Given the description of an element on the screen output the (x, y) to click on. 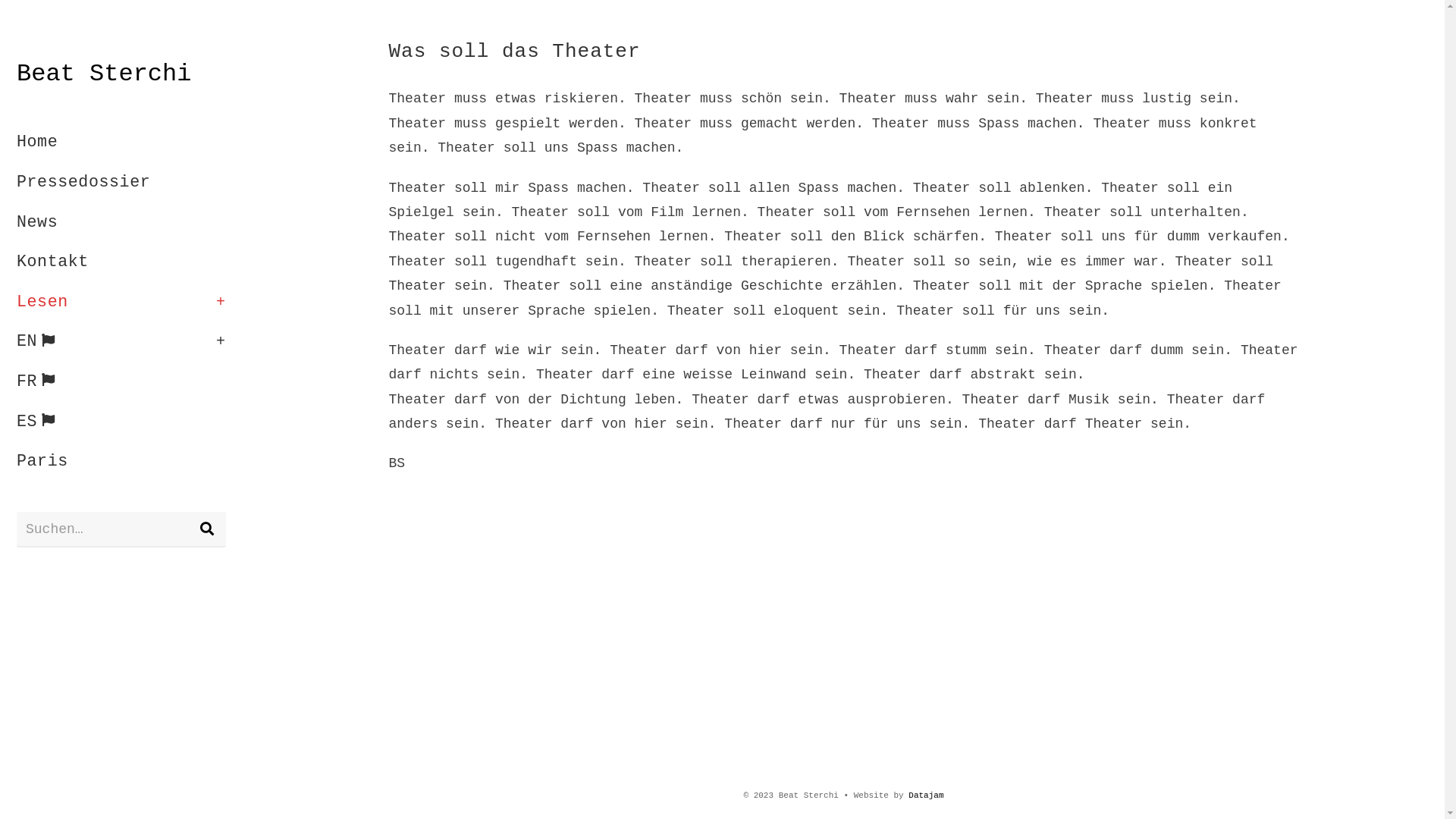
EN Element type: text (121, 341)
Home Element type: text (121, 142)
Lesen Element type: text (121, 302)
Beat Sterchi Element type: text (103, 73)
Datajam Element type: text (925, 795)
FR Element type: text (121, 381)
ES Element type: text (121, 422)
Pressedossier Element type: text (121, 182)
News Element type: text (121, 222)
Kontakt Element type: text (121, 262)
Submit search Element type: text (206, 529)
Paris Element type: text (121, 461)
